Given the description of an element on the screen output the (x, y) to click on. 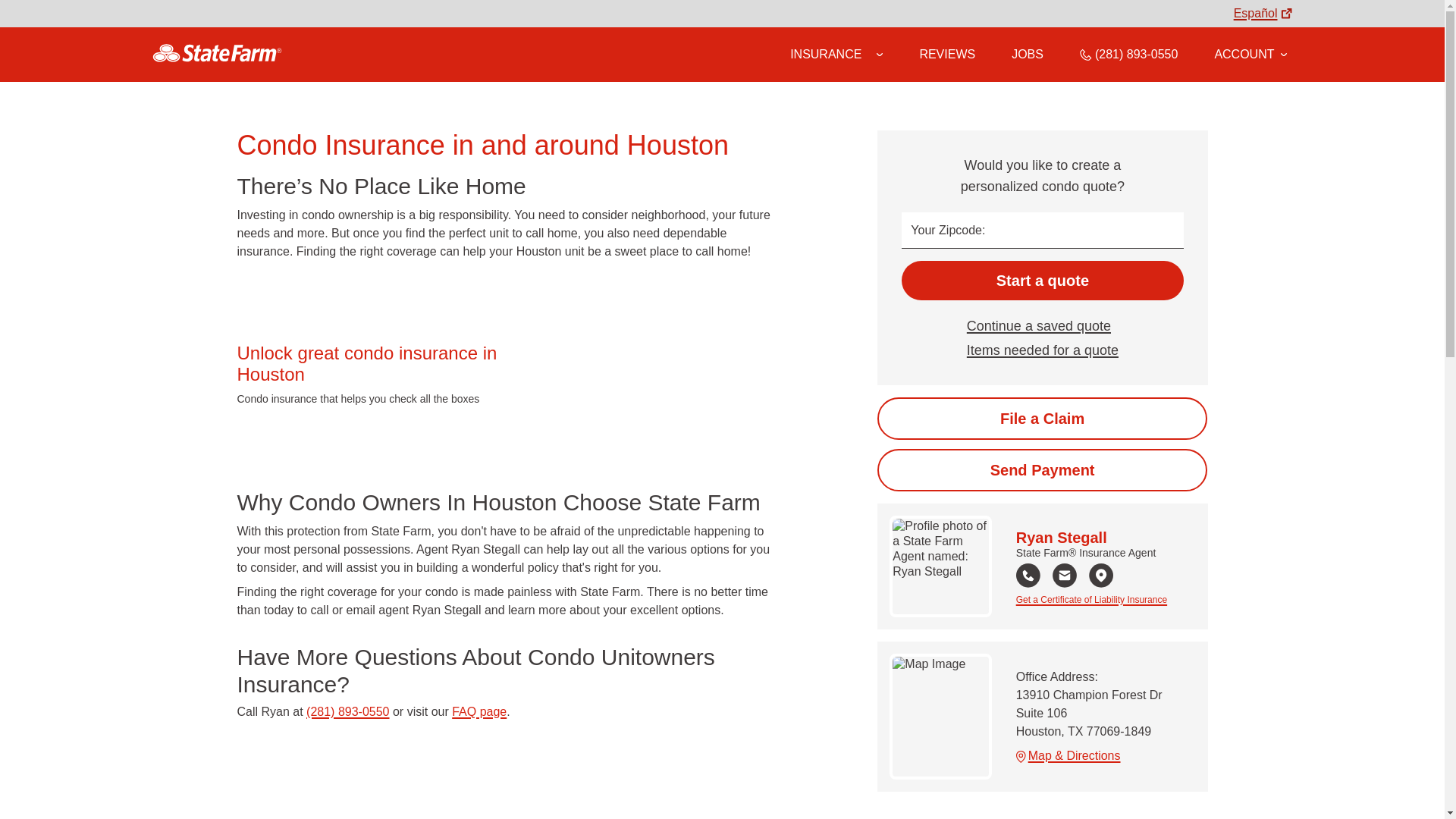
JOBS (1027, 54)
REVIEWS (946, 54)
Account Options (1250, 54)
Insurance (836, 54)
ACCOUNT (1250, 54)
INSURANCE (825, 54)
Start the claim process online (1042, 418)
